Given the description of an element on the screen output the (x, y) to click on. 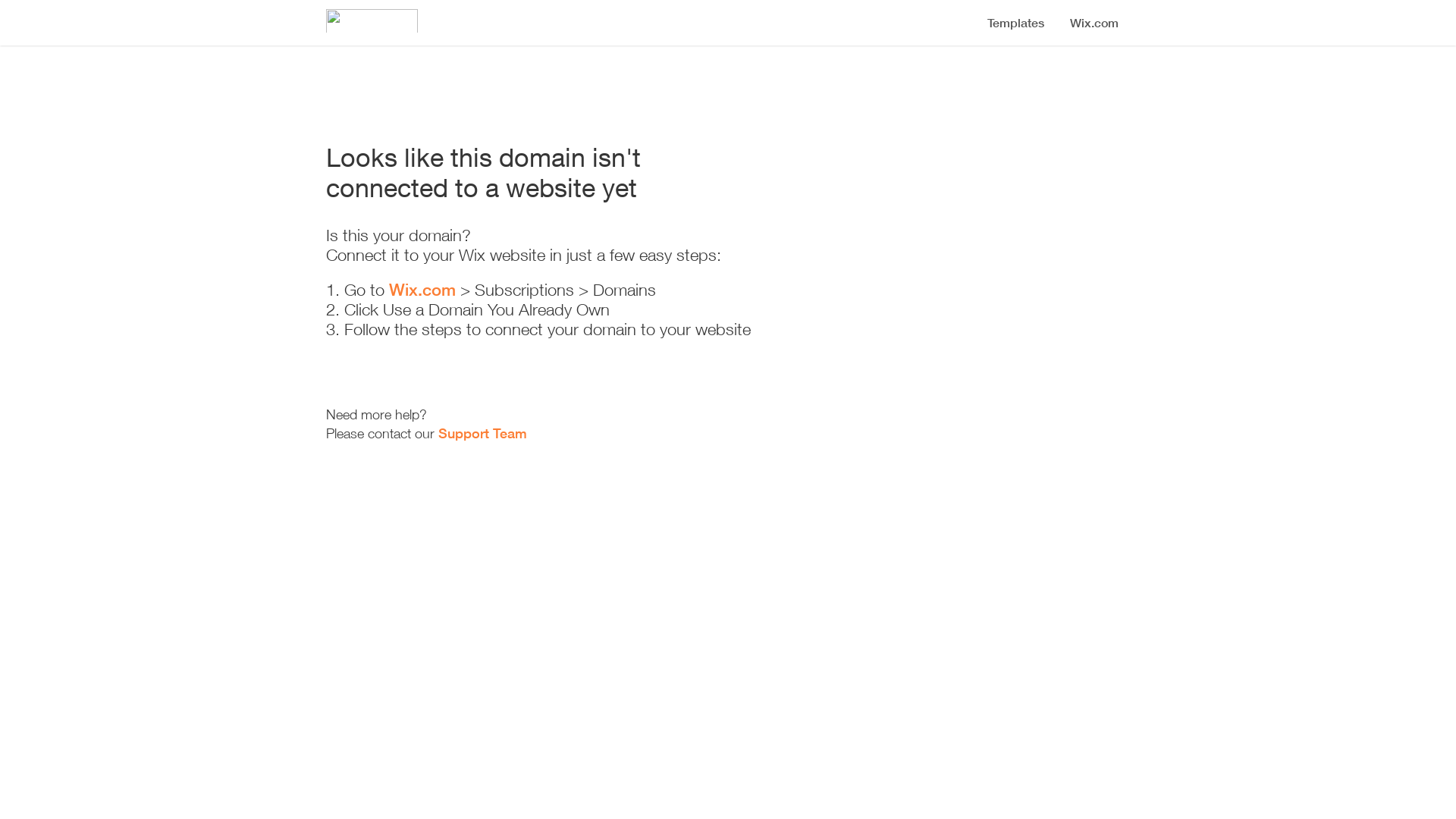
Support Team Element type: text (482, 432)
Wix.com Element type: text (422, 289)
